Given the description of an element on the screen output the (x, y) to click on. 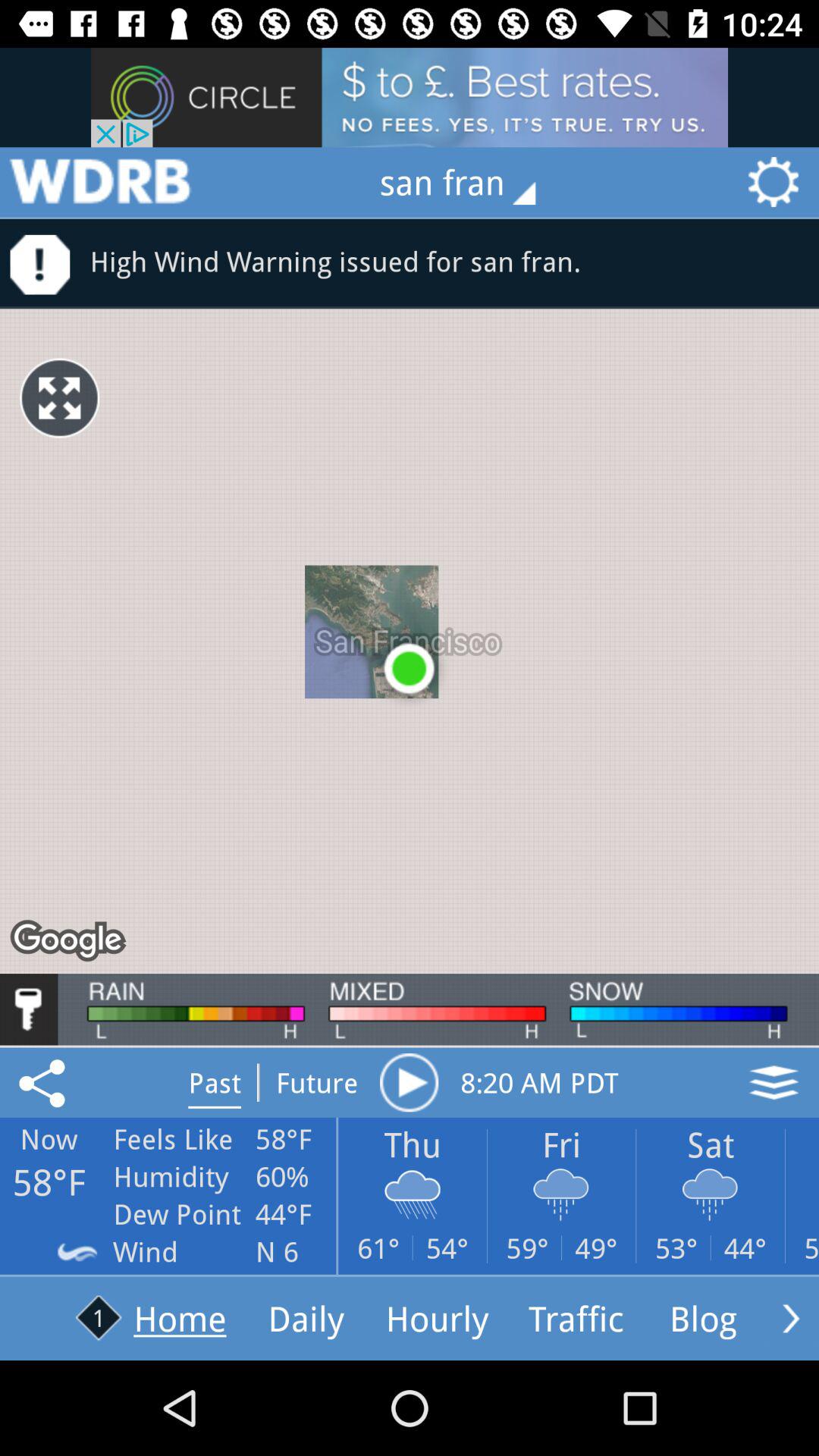
advertisement (99, 182)
